Given the description of an element on the screen output the (x, y) to click on. 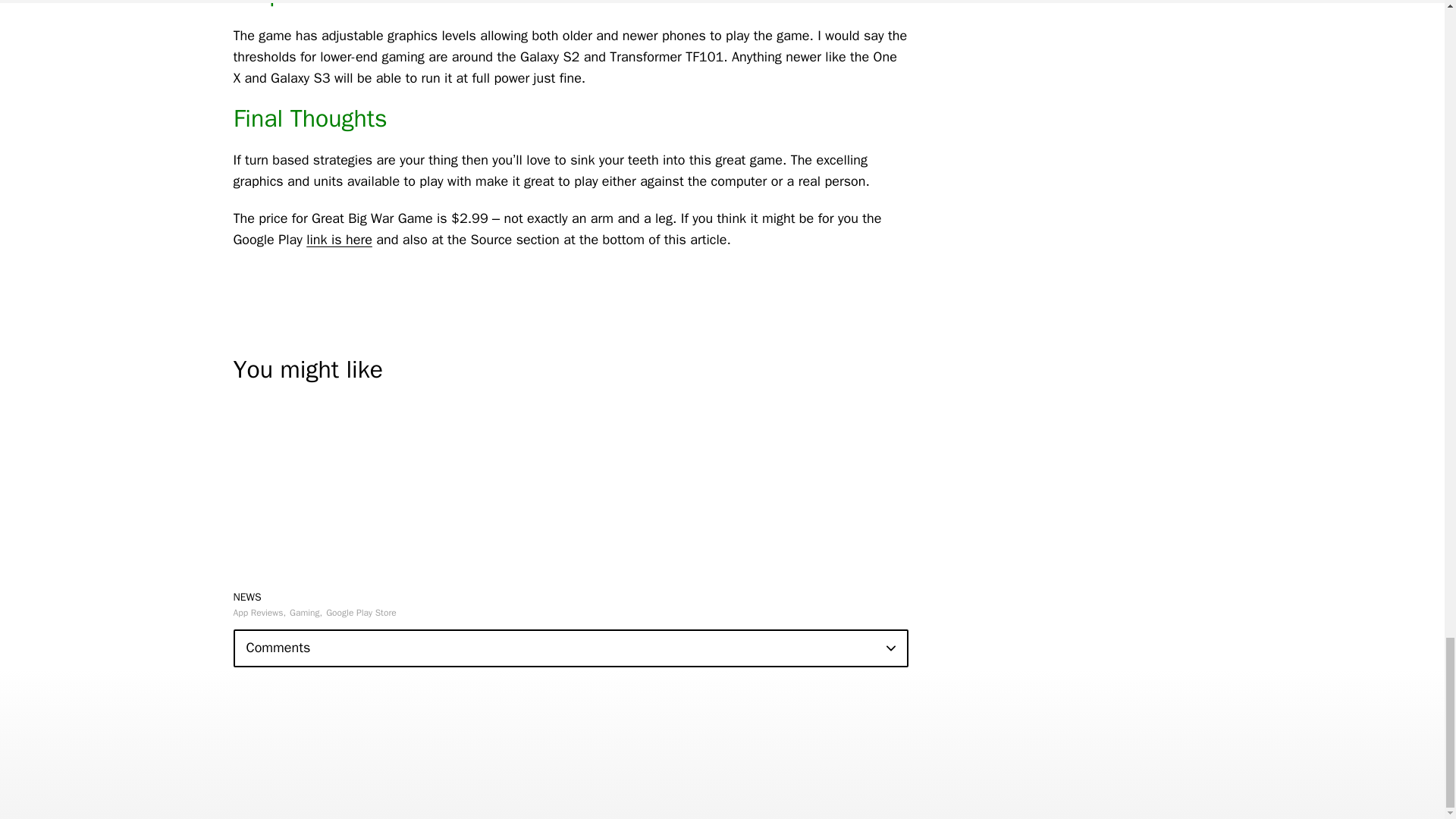
Google Play Store (361, 612)
Gaming (305, 612)
NEWS (247, 596)
link is here (338, 239)
Comments (570, 648)
App Reviews (259, 612)
